Given the description of an element on the screen output the (x, y) to click on. 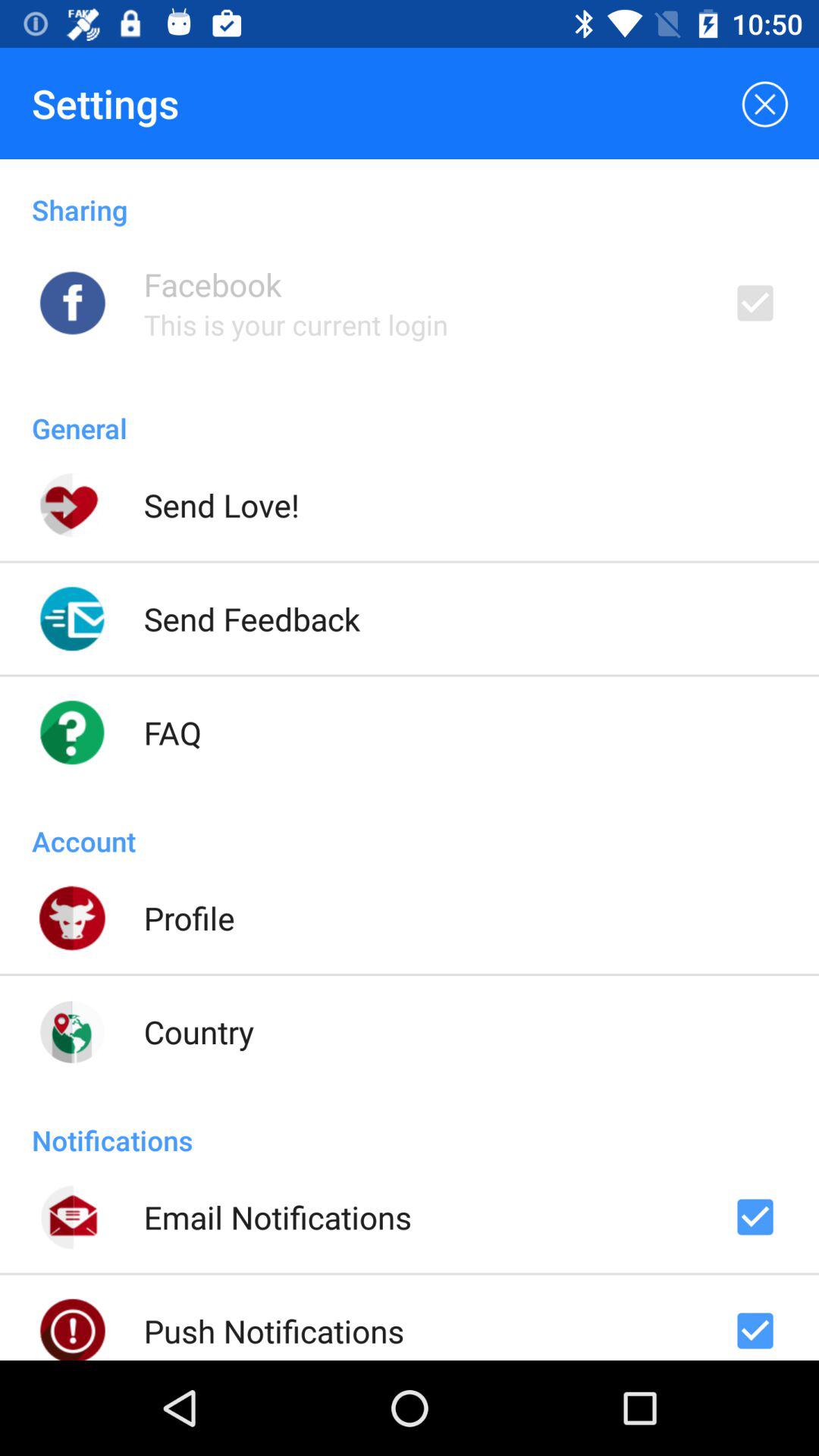
swipe to the push notifications (273, 1330)
